Given the description of an element on the screen output the (x, y) to click on. 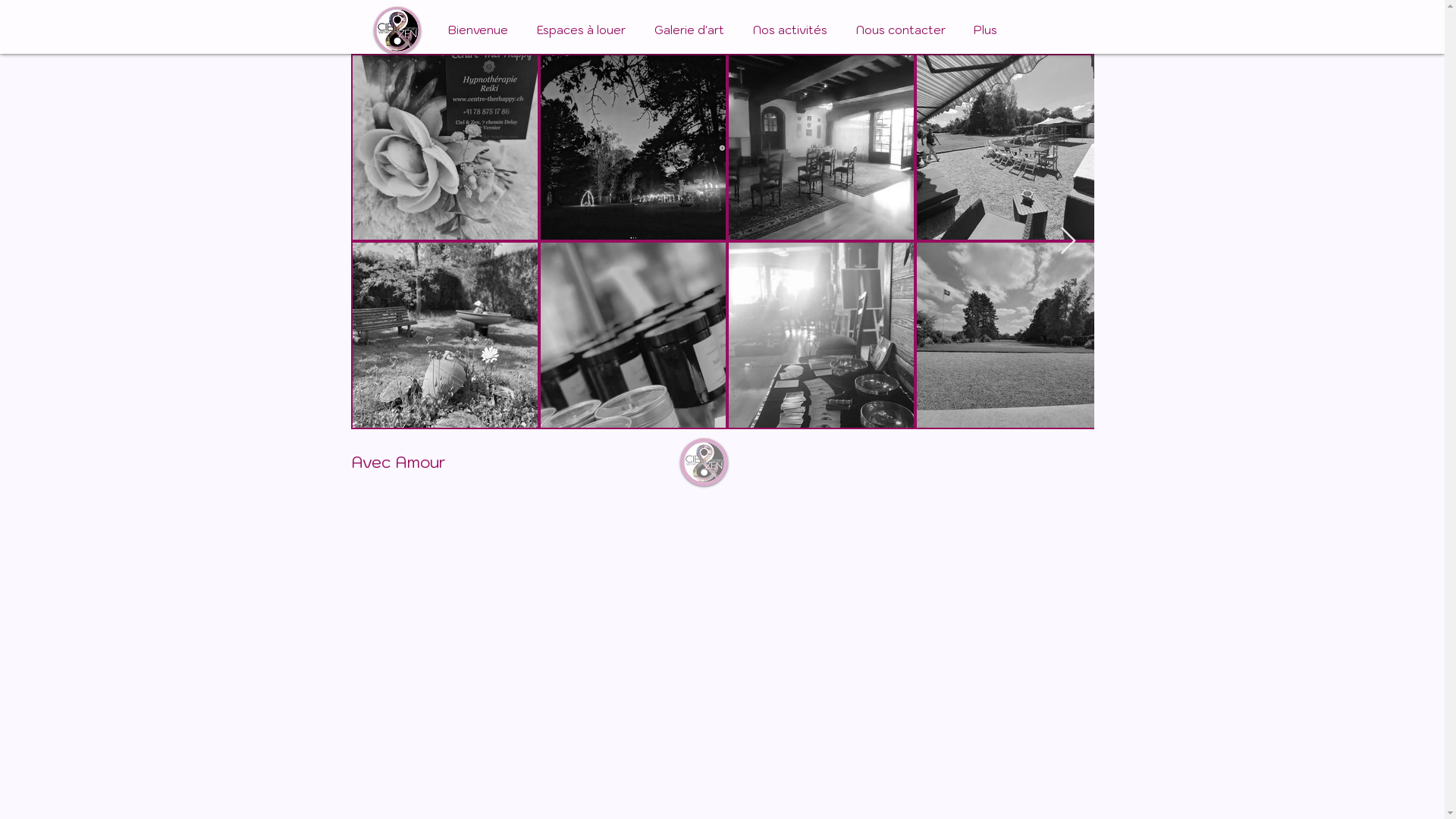
Nous contacter Element type: text (900, 30)
Logo Element type: hover (703, 462)
Bienvenue Element type: text (477, 30)
Logo Element type: hover (396, 29)
Logo Element type: hover (1071, 53)
Galerie d'art Element type: text (689, 30)
